Given the description of an element on the screen output the (x, y) to click on. 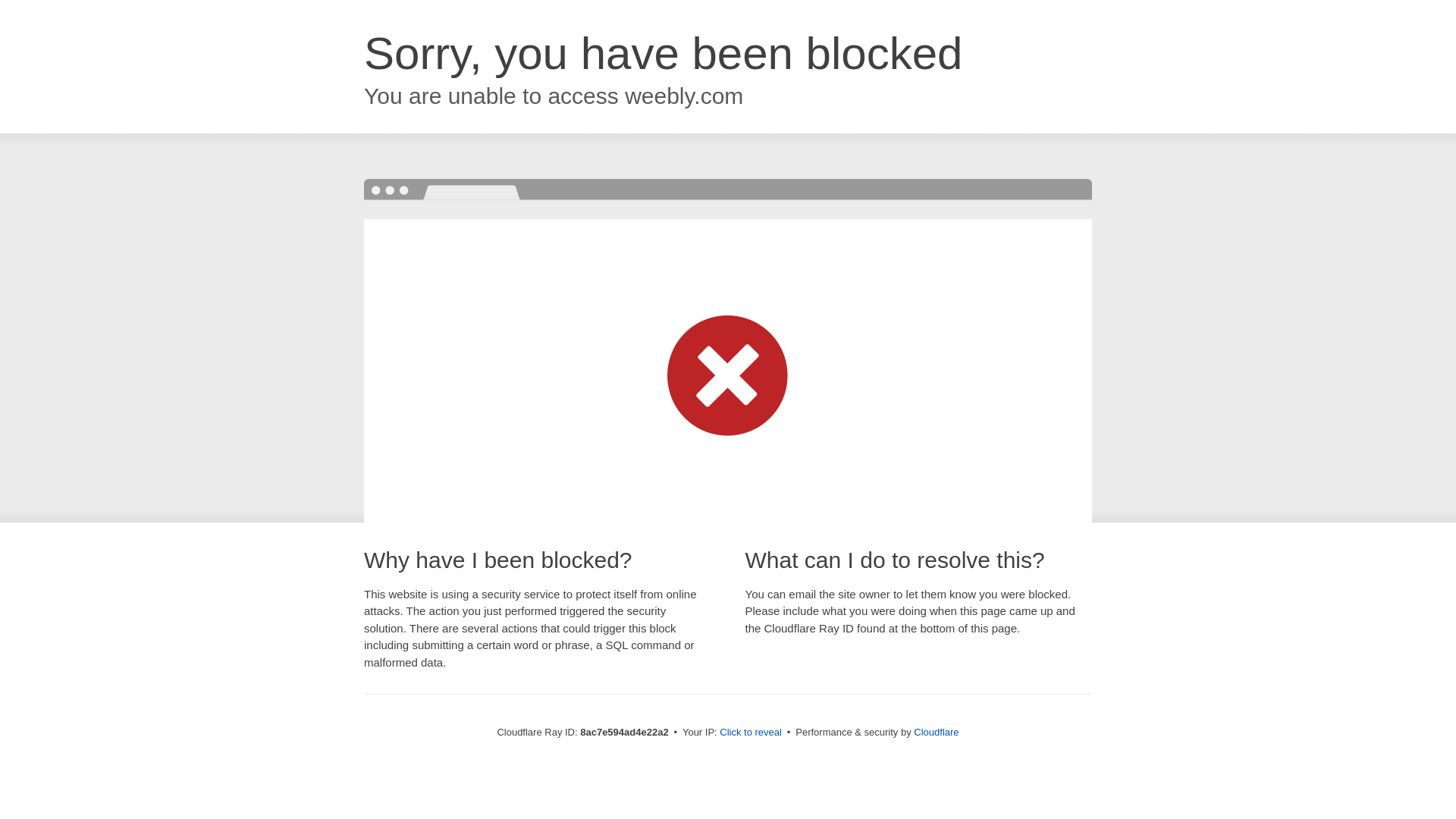
Click to reveal (750, 732)
Cloudflare (936, 731)
